Given the description of an element on the screen output the (x, y) to click on. 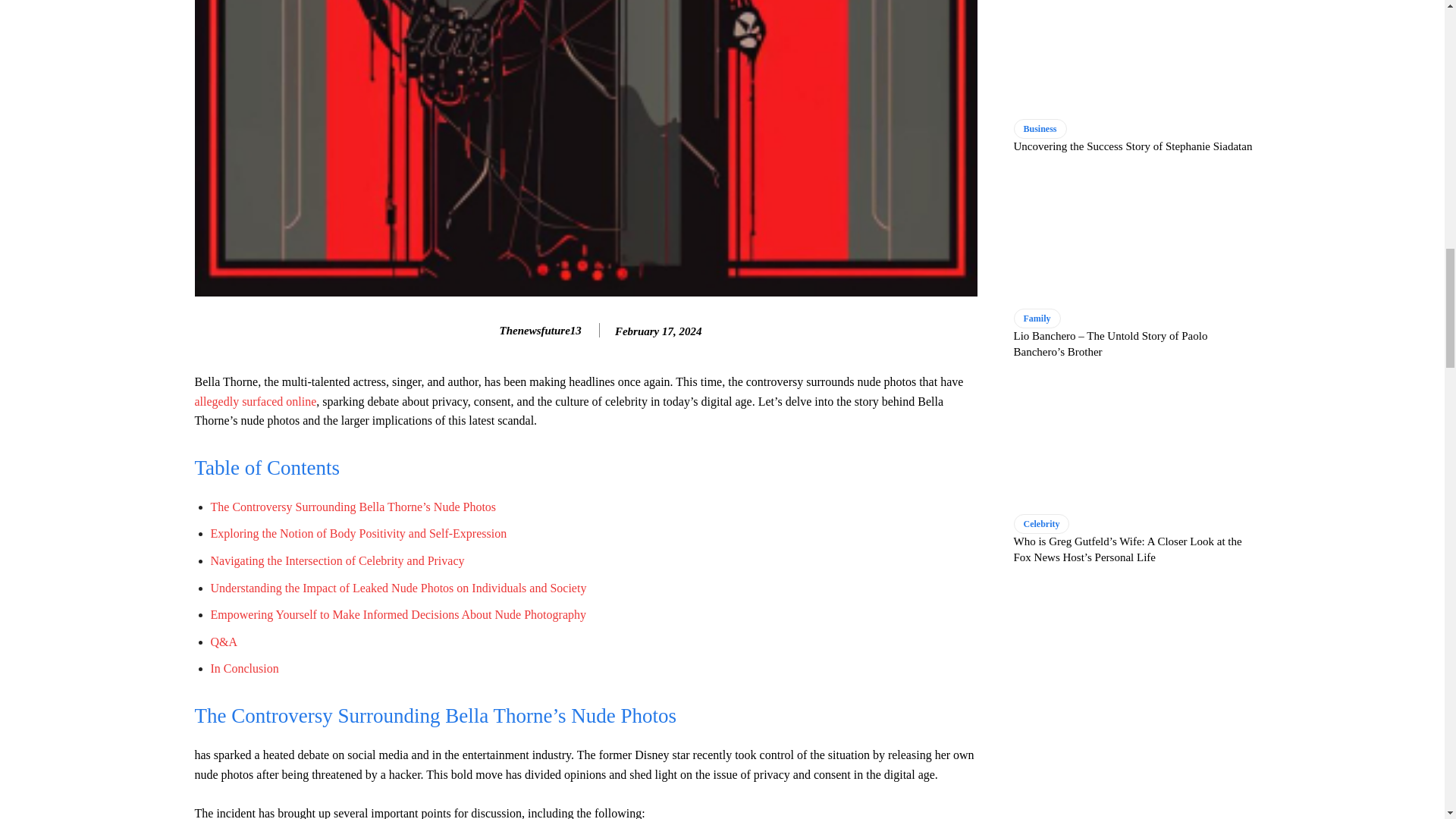
thenewsfuture13 (483, 330)
